Given the description of an element on the screen output the (x, y) to click on. 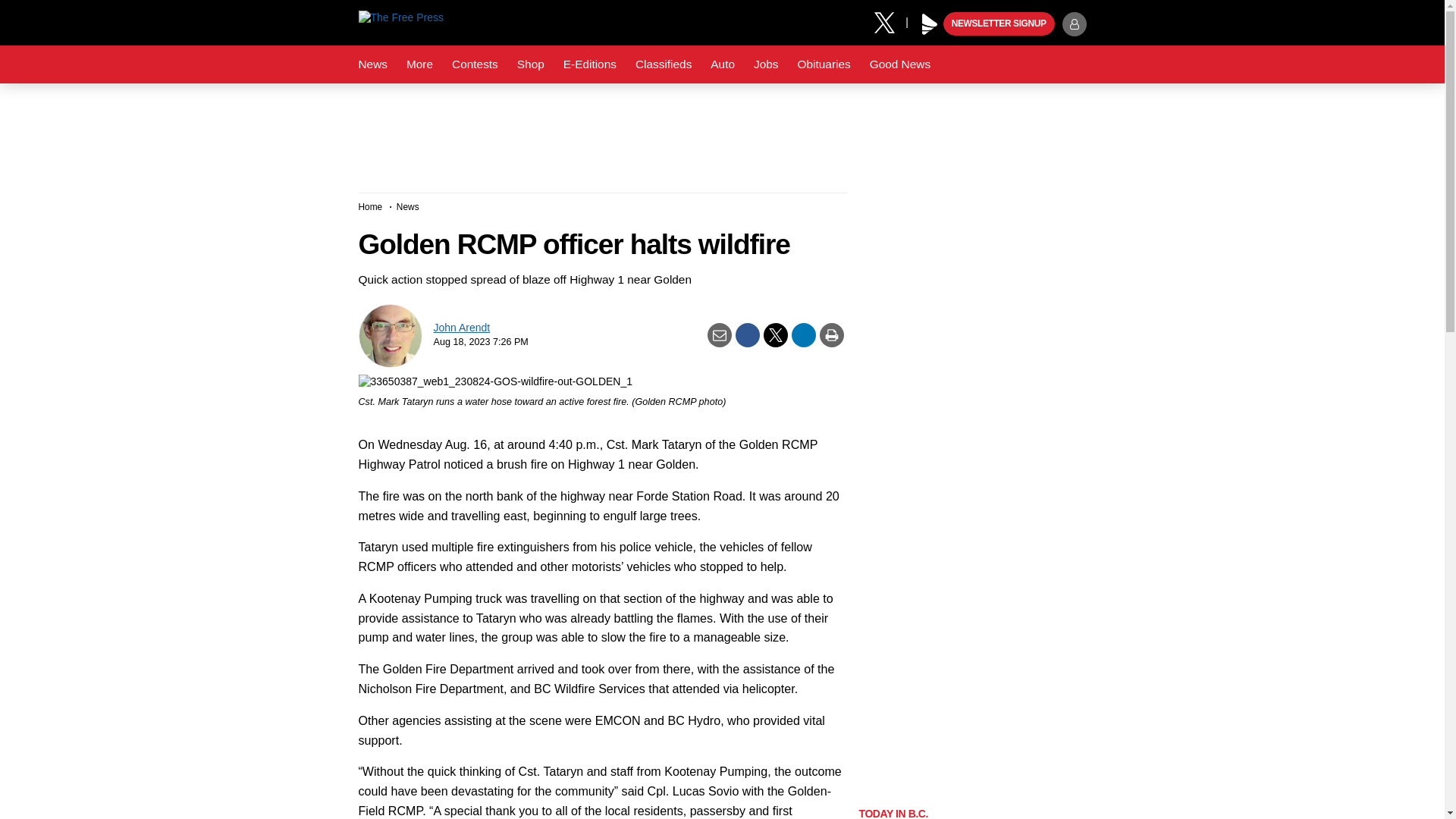
News (372, 64)
Black Press Media (929, 24)
NEWSLETTER SIGNUP (998, 24)
Play (929, 24)
X (889, 21)
